Given the description of an element on the screen output the (x, y) to click on. 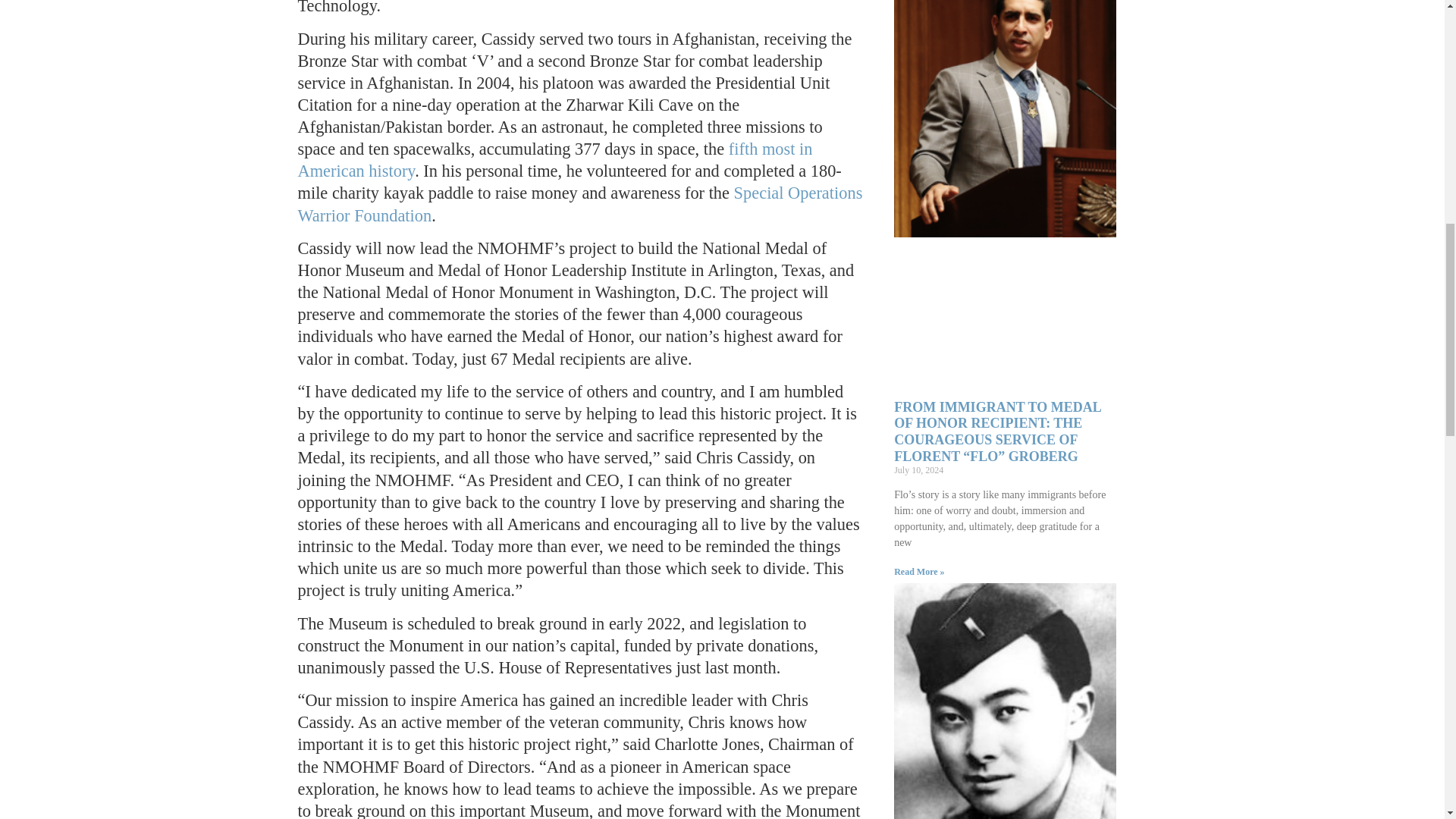
Special Operations Warrior Foundation (579, 203)
fifth most in American history (554, 159)
